Given the description of an element on the screen output the (x, y) to click on. 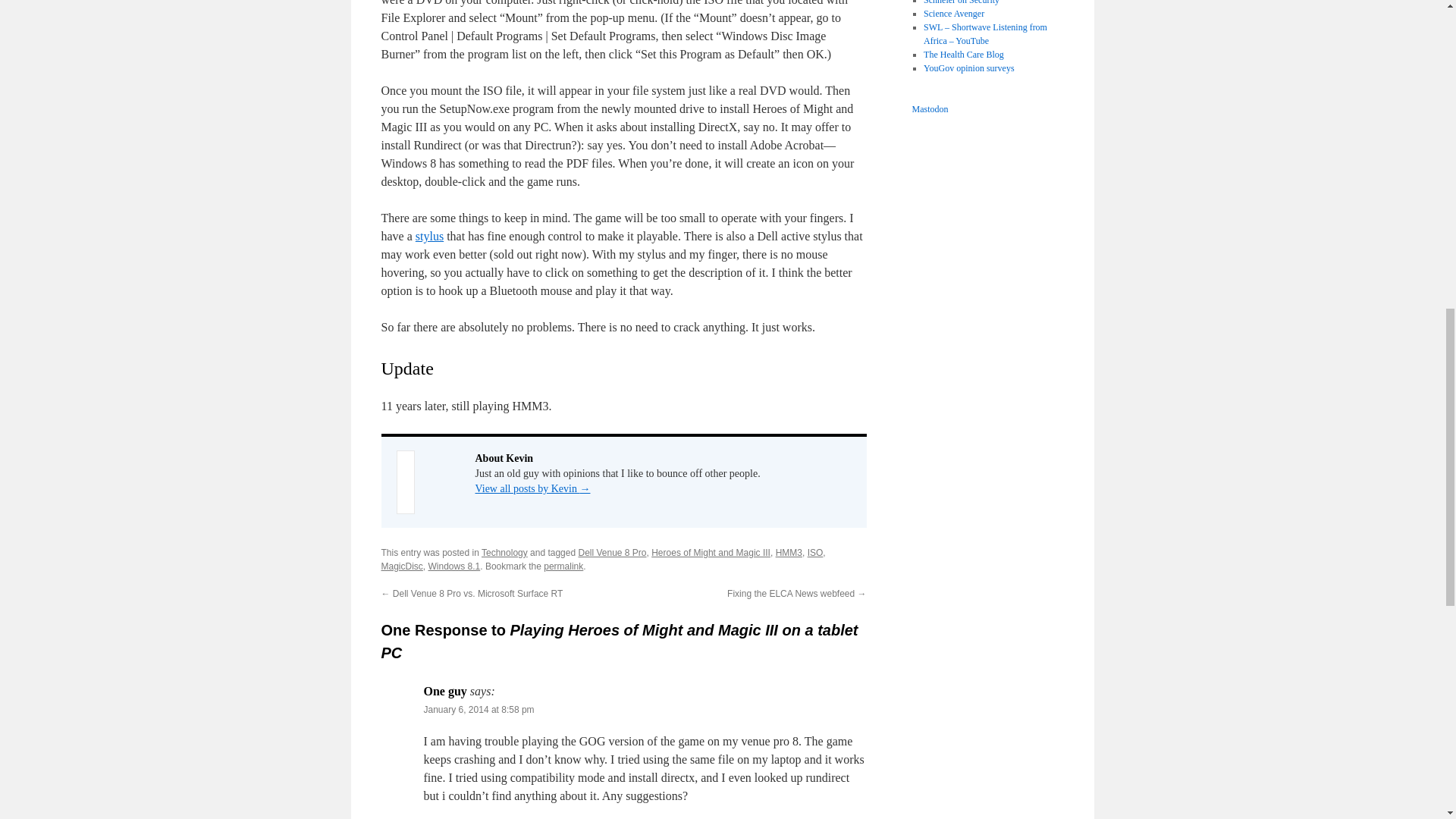
Windows 8.1 (454, 566)
stylus (429, 236)
MagicDisc (401, 566)
HMM3 (789, 552)
January 6, 2014 at 8:58 pm (478, 709)
ISO (816, 552)
Blog aboug computer security issues (960, 2)
permalink (563, 566)
Dell Venue 8 Pro (612, 552)
